Given the description of an element on the screen output the (x, y) to click on. 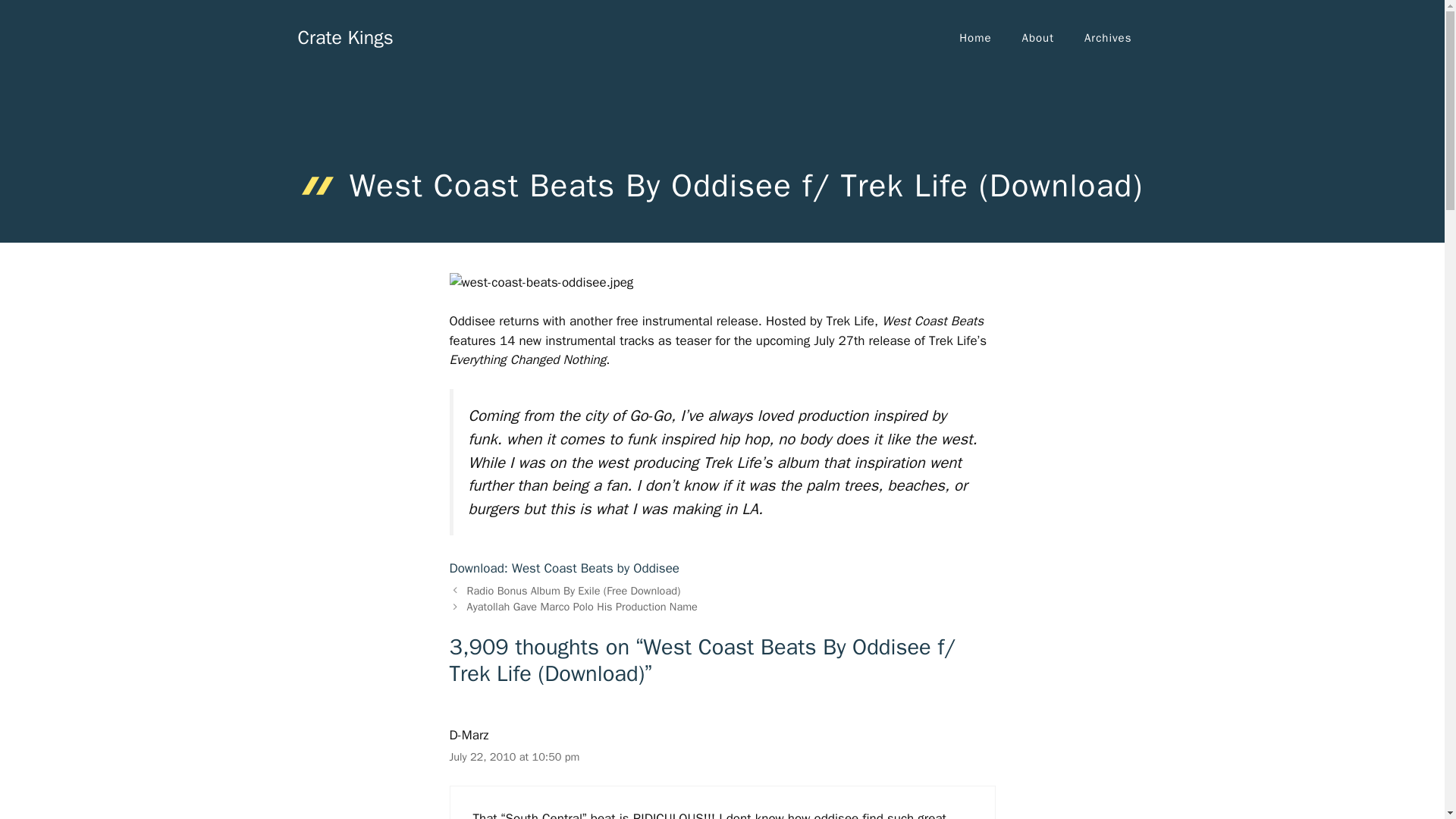
Download: West Coast Beats by Oddisee (563, 568)
Crate Kings (345, 37)
Archives (1107, 37)
Ayatollah Gave Marco Polo His Production Name (582, 606)
July 22, 2010 at 10:50 pm (513, 756)
Home (974, 37)
west-coast-beats-oddisee.jpeg (540, 282)
About (1037, 37)
